Given the description of an element on the screen output the (x, y) to click on. 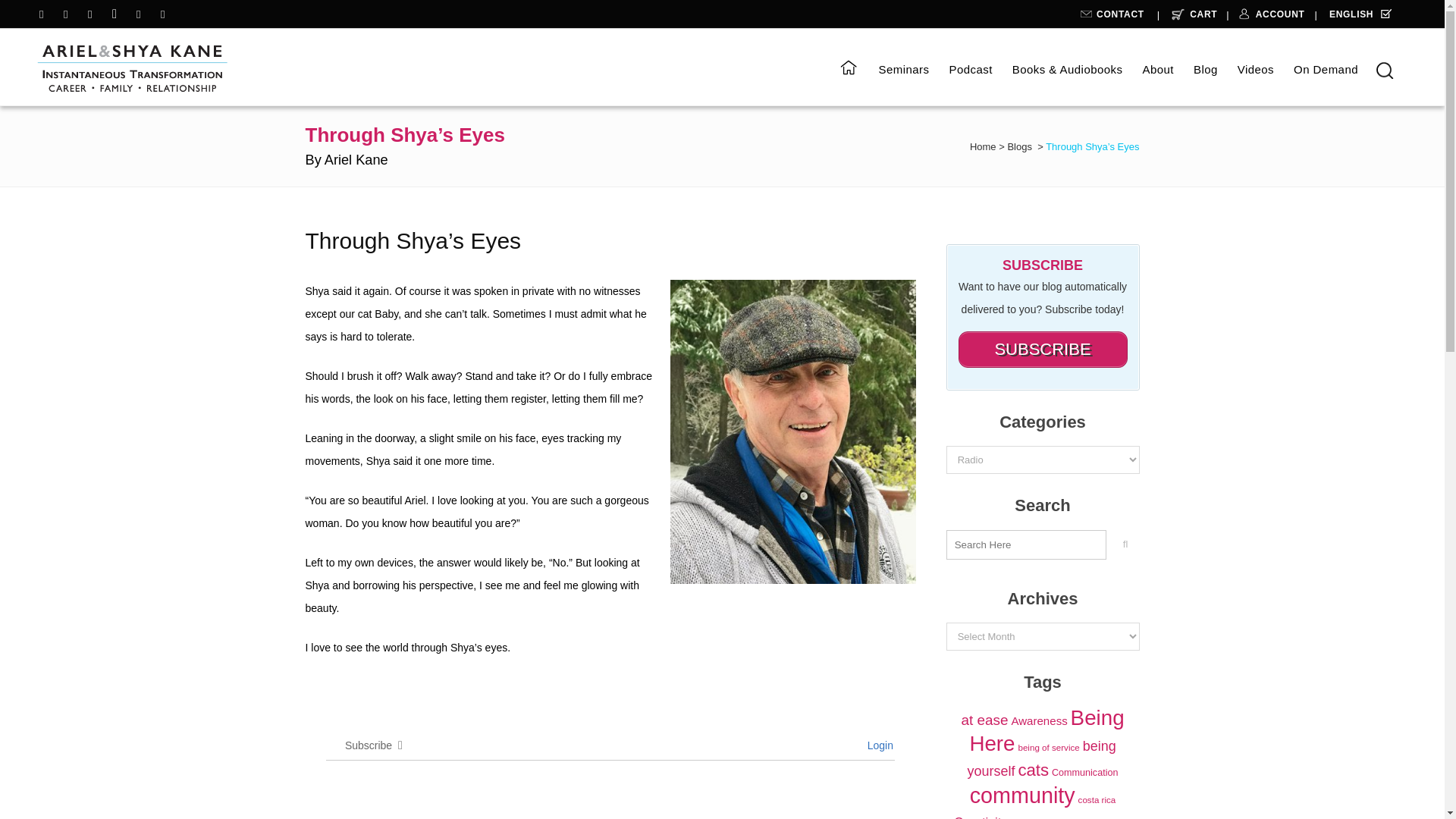
CART (1191, 17)
CONTACT (1114, 17)
ENGLISH (1353, 17)
Seminars (903, 69)
ACCOUNT (1270, 17)
On Demand (1326, 69)
